Given the description of an element on the screen output the (x, y) to click on. 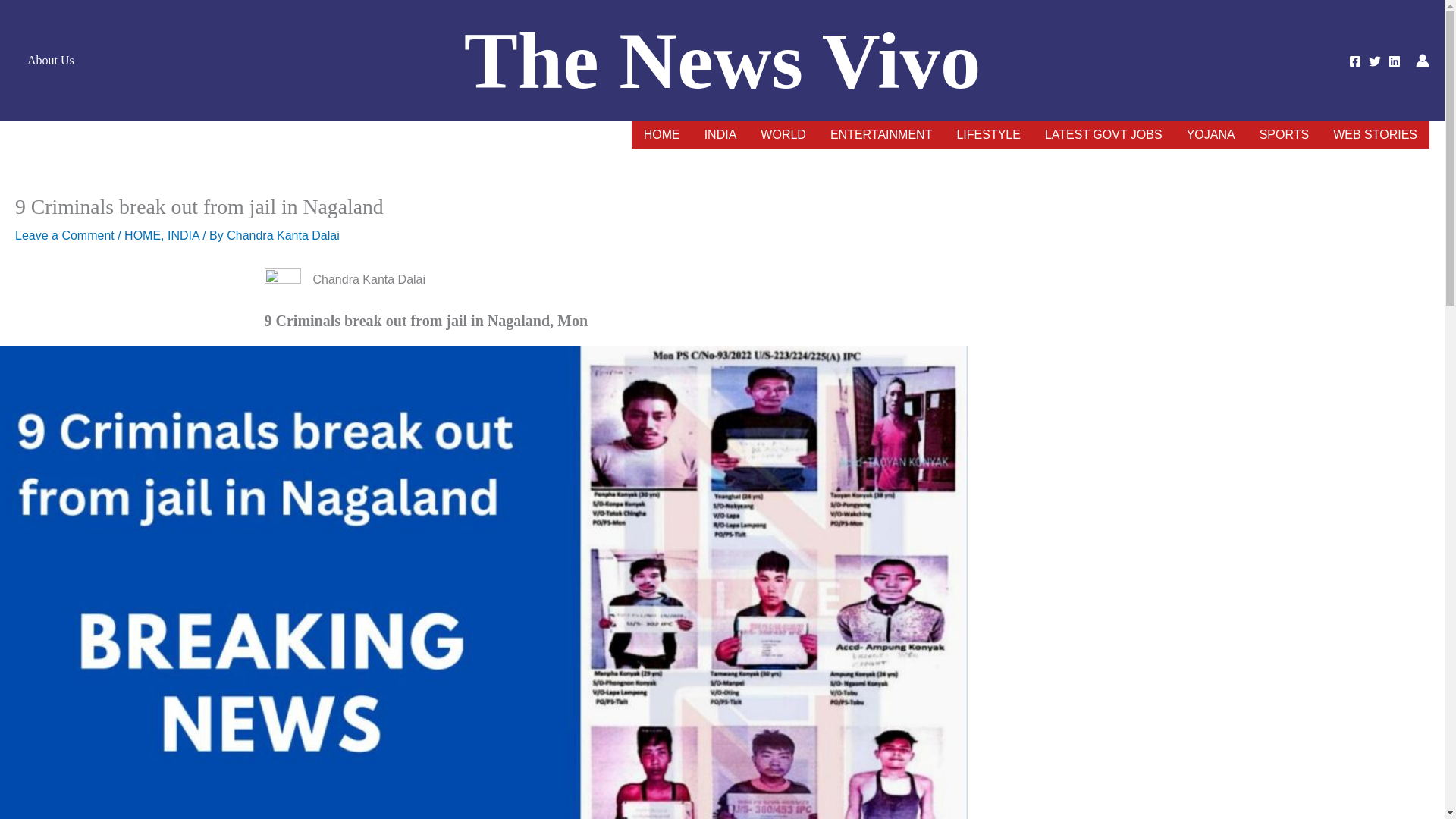
About Us (49, 60)
WORLD (783, 134)
WEB STORIES (1374, 134)
View all posts by Chandra Kanta Dalai (283, 235)
YOJANA (1210, 134)
SPORTS (1284, 134)
HOME (662, 134)
INDIA (721, 134)
The News Vivo (721, 60)
HOME (141, 235)
Chandra Kanta Dalai (283, 235)
LIFESTYLE (987, 134)
ENTERTAINMENT (881, 134)
Leave a Comment (64, 235)
INDIA (183, 235)
